Given the description of an element on the screen output the (x, y) to click on. 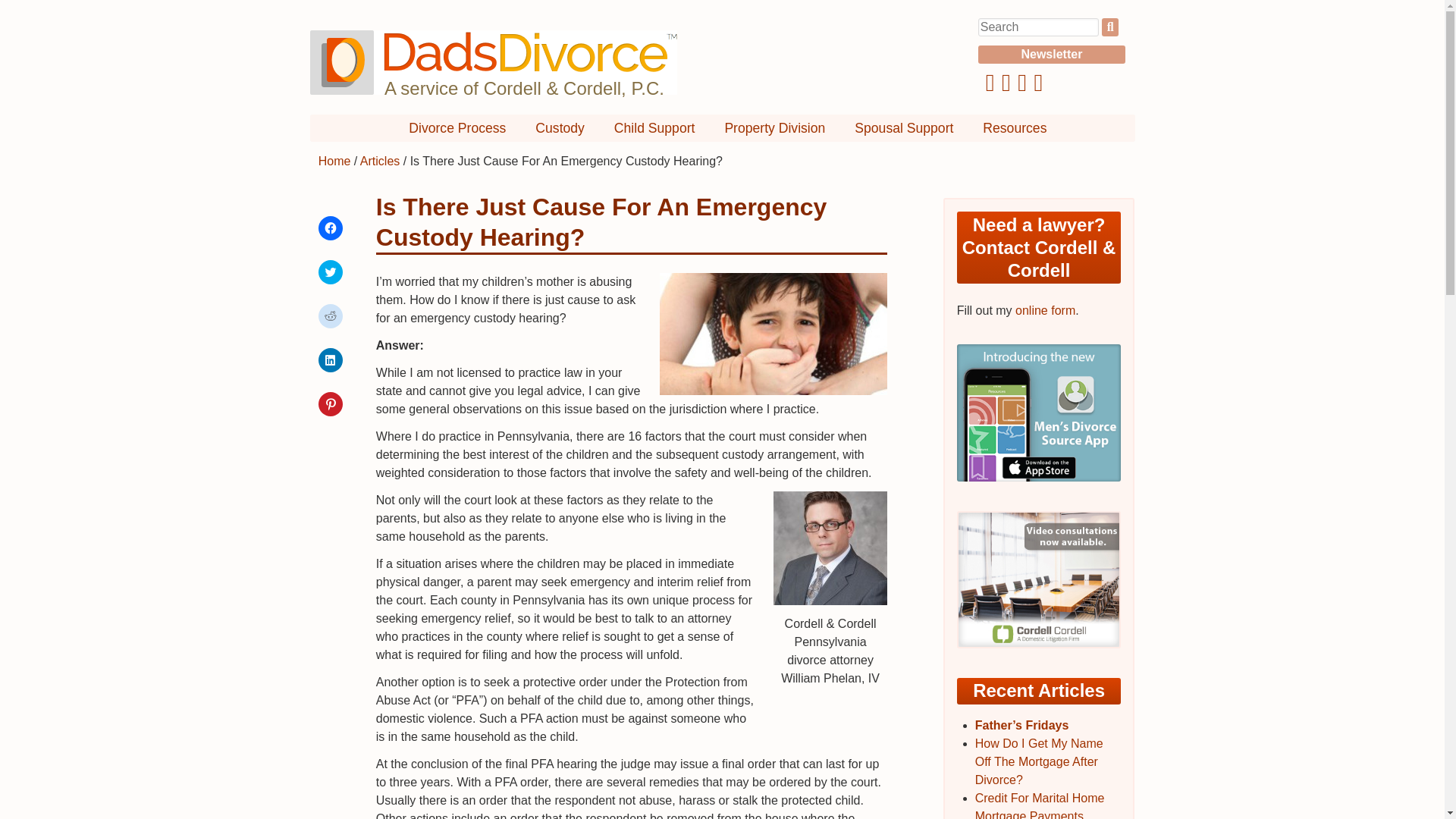
Search for: (1038, 27)
Articles (378, 160)
Custody (560, 127)
Divorce Process (457, 127)
Click to share on Reddit (330, 315)
Click to share on Twitter (330, 272)
Click to share on Pinterest (330, 404)
Property Division (774, 127)
Click to share on Facebook (330, 228)
